Given the description of an element on the screen output the (x, y) to click on. 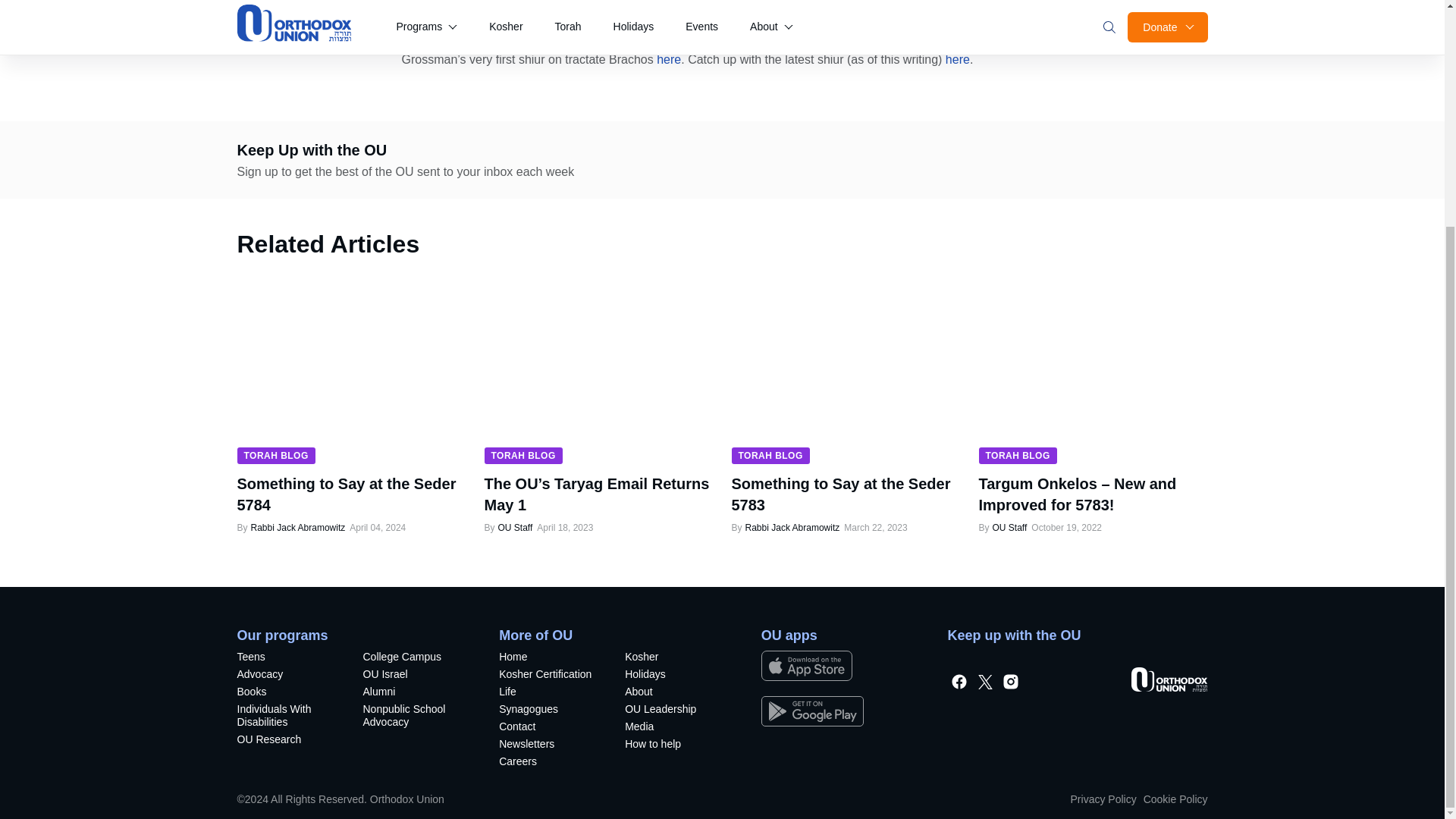
teachcoalition (413, 717)
Posts by Rabbi Jack Abramowitz (792, 527)
OU Research (286, 741)
Posts by OU Staff (514, 527)
Posts by Rabbi Jack Abramowitz (297, 527)
Posts by OU Staff (1009, 527)
How to get kosher certification (549, 675)
